Given the description of an element on the screen output the (x, y) to click on. 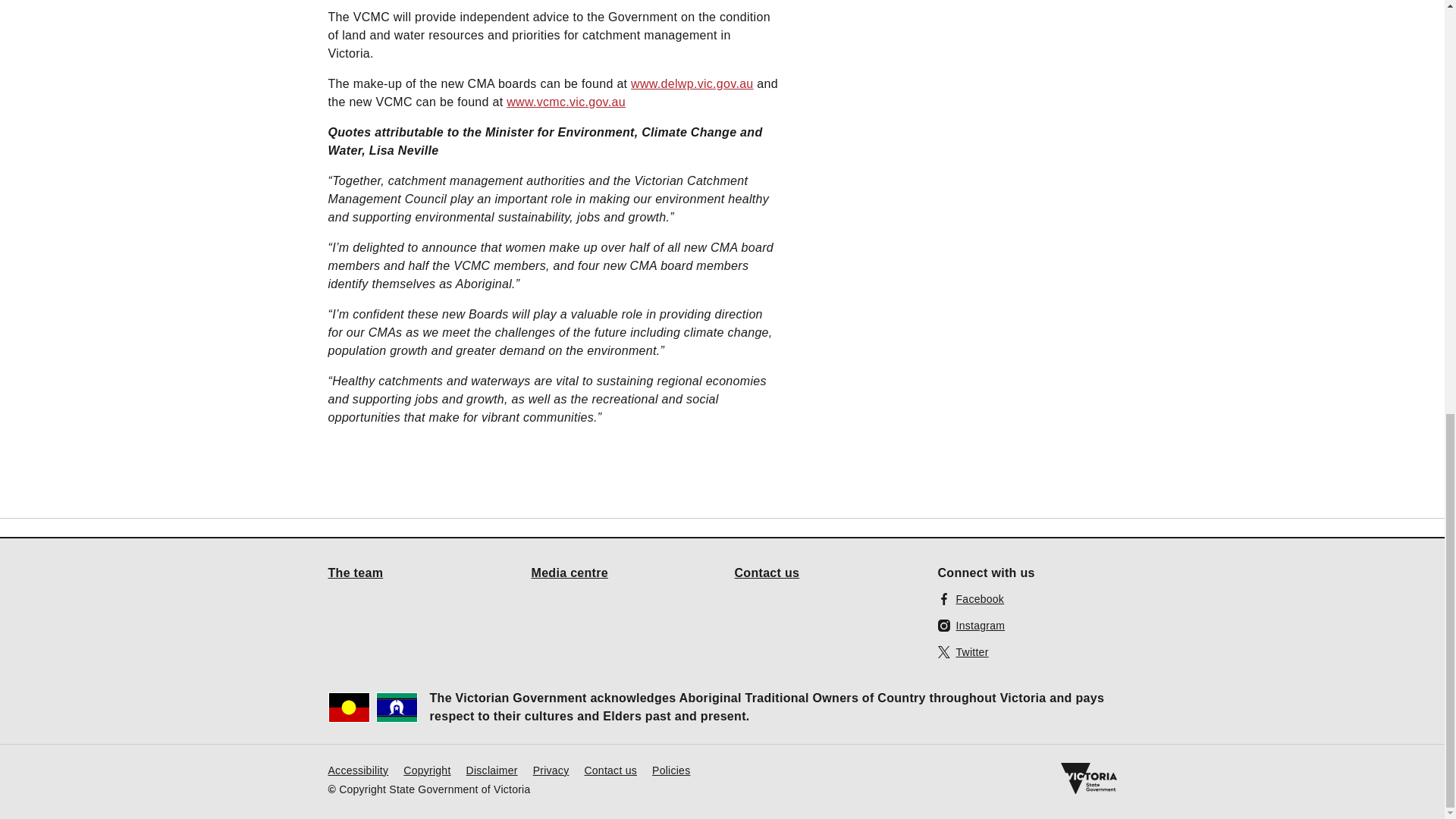
Contact us (766, 572)
Privacy (550, 769)
Policies (671, 769)
www.vcmc.vic.gov.au (566, 101)
Twitter (962, 651)
Victoria government home (1087, 778)
Facebook (970, 598)
Copyright (426, 769)
Disclaimer (491, 769)
Accessibility (357, 769)
